Given the description of an element on the screen output the (x, y) to click on. 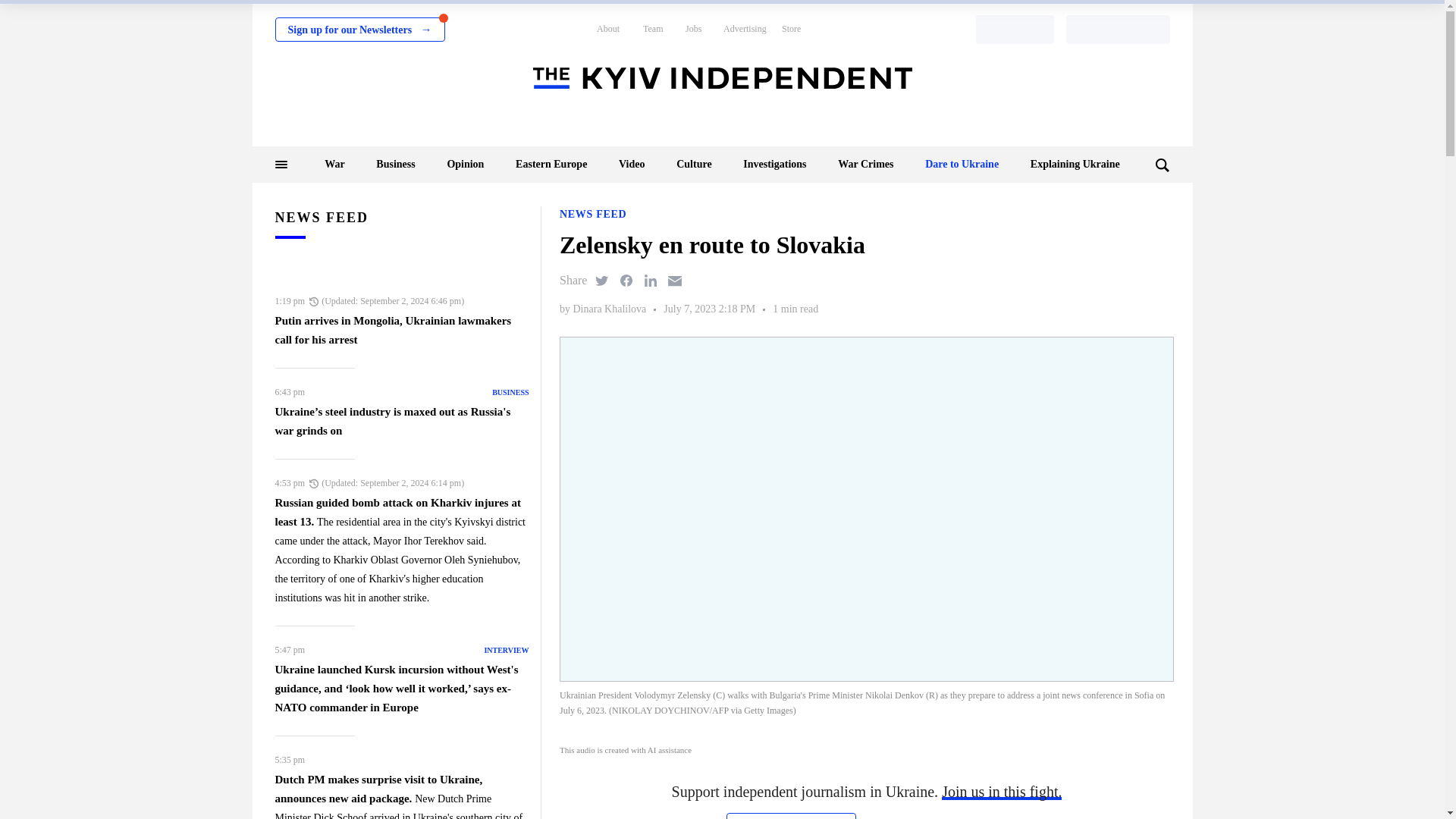
Dare to Ukraine (961, 163)
Eastern Europe (550, 163)
Advertising (745, 28)
Store (790, 28)
Culture (694, 163)
War Crimes (865, 163)
Explaining Ukraine (1074, 163)
War (333, 163)
Video (631, 163)
Jobs (693, 28)
